Given the description of an element on the screen output the (x, y) to click on. 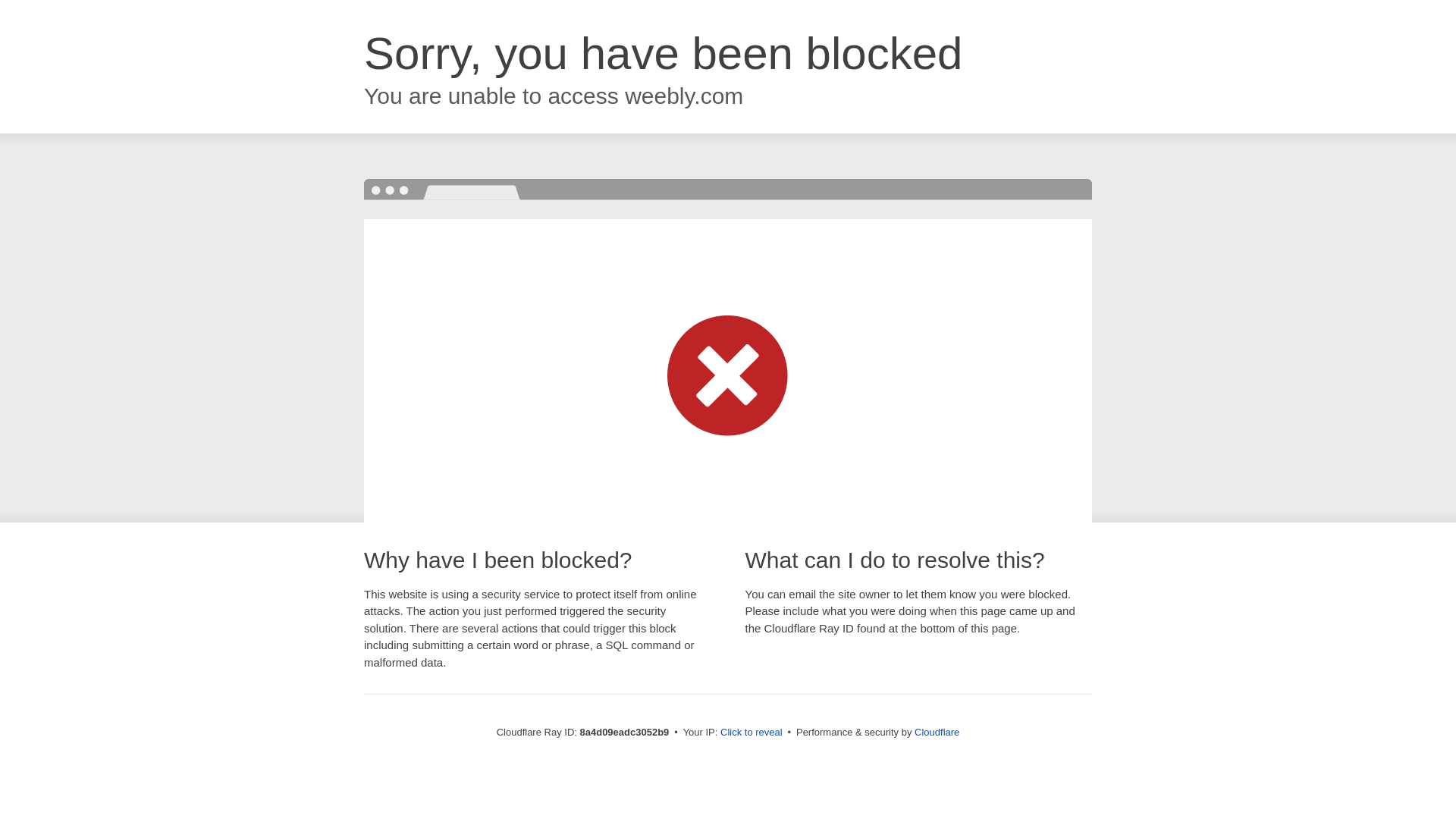
Cloudflare (936, 731)
Click to reveal (751, 732)
